Given the description of an element on the screen output the (x, y) to click on. 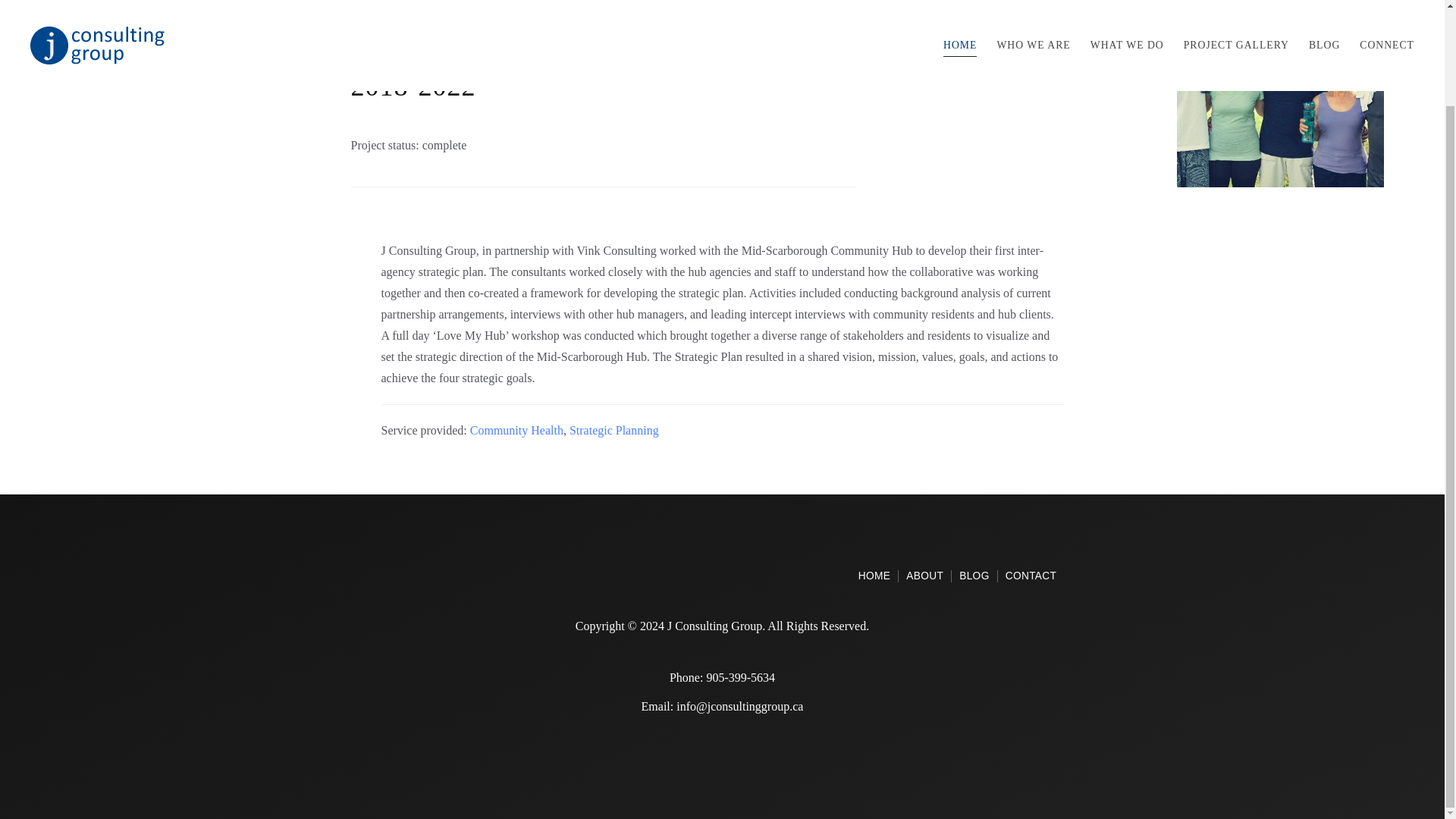
BLOG (973, 576)
CONTACT (1031, 576)
905-399-5634 (740, 676)
ABOUT (956, 576)
Community Health (924, 576)
Strategic Planning (516, 430)
HOME (614, 430)
